Given the description of an element on the screen output the (x, y) to click on. 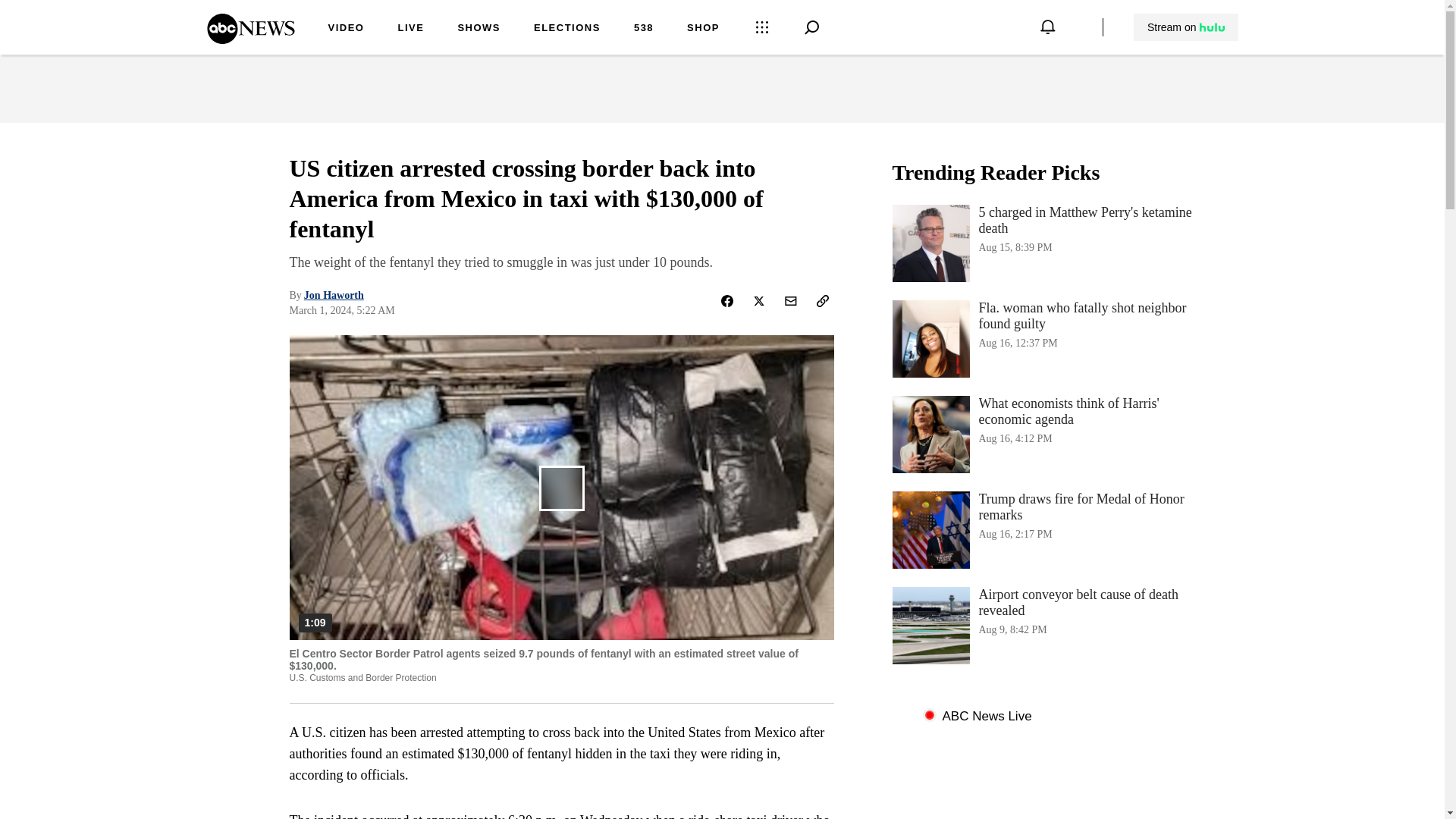
VIDEO (345, 28)
ELECTIONS (1043, 625)
Stream on (566, 28)
Stream on (1186, 26)
Jon Haworth (1043, 529)
SHOP (1185, 27)
